Given the description of an element on the screen output the (x, y) to click on. 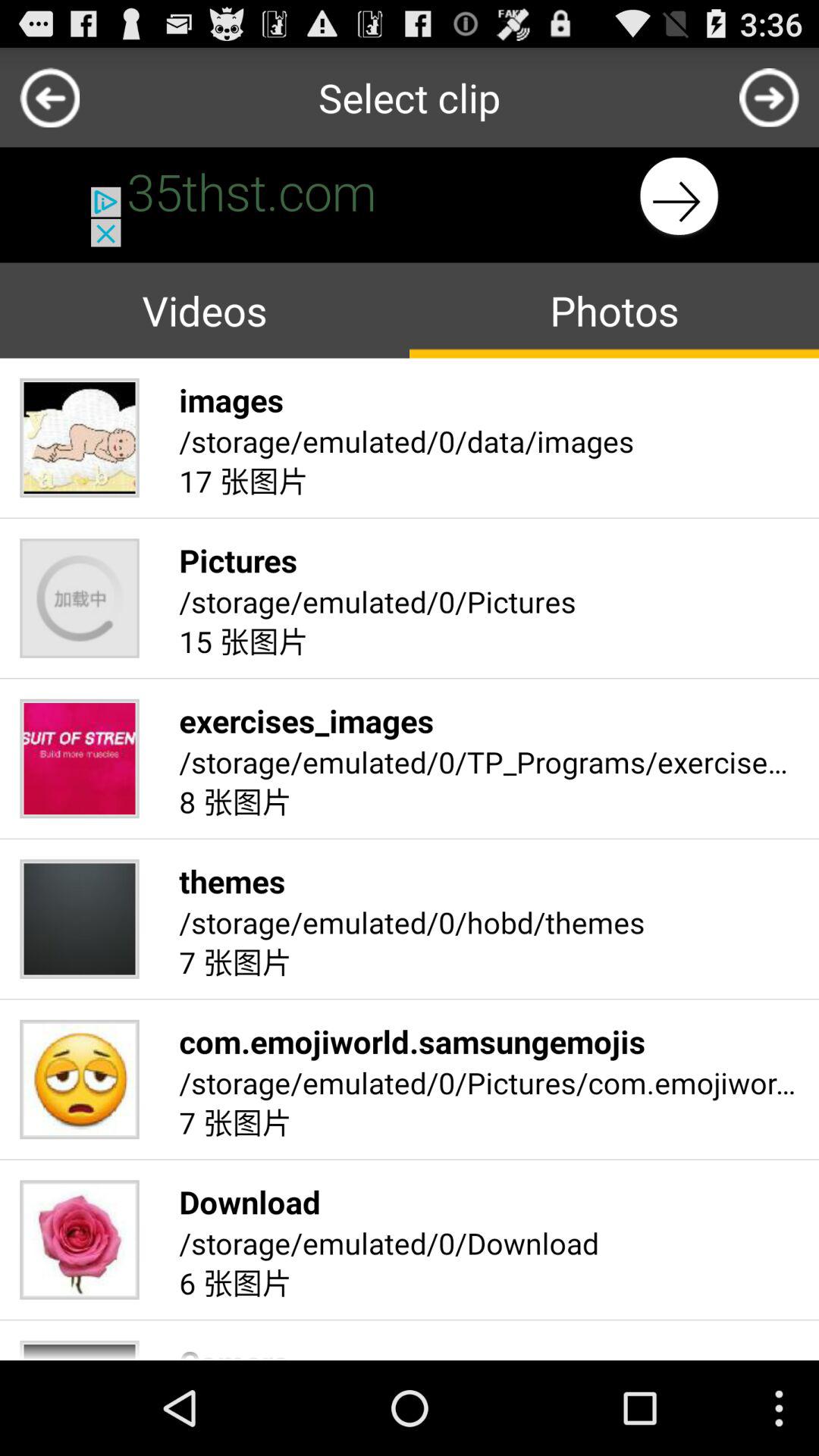
go back (769, 97)
